Given the description of an element on the screen output the (x, y) to click on. 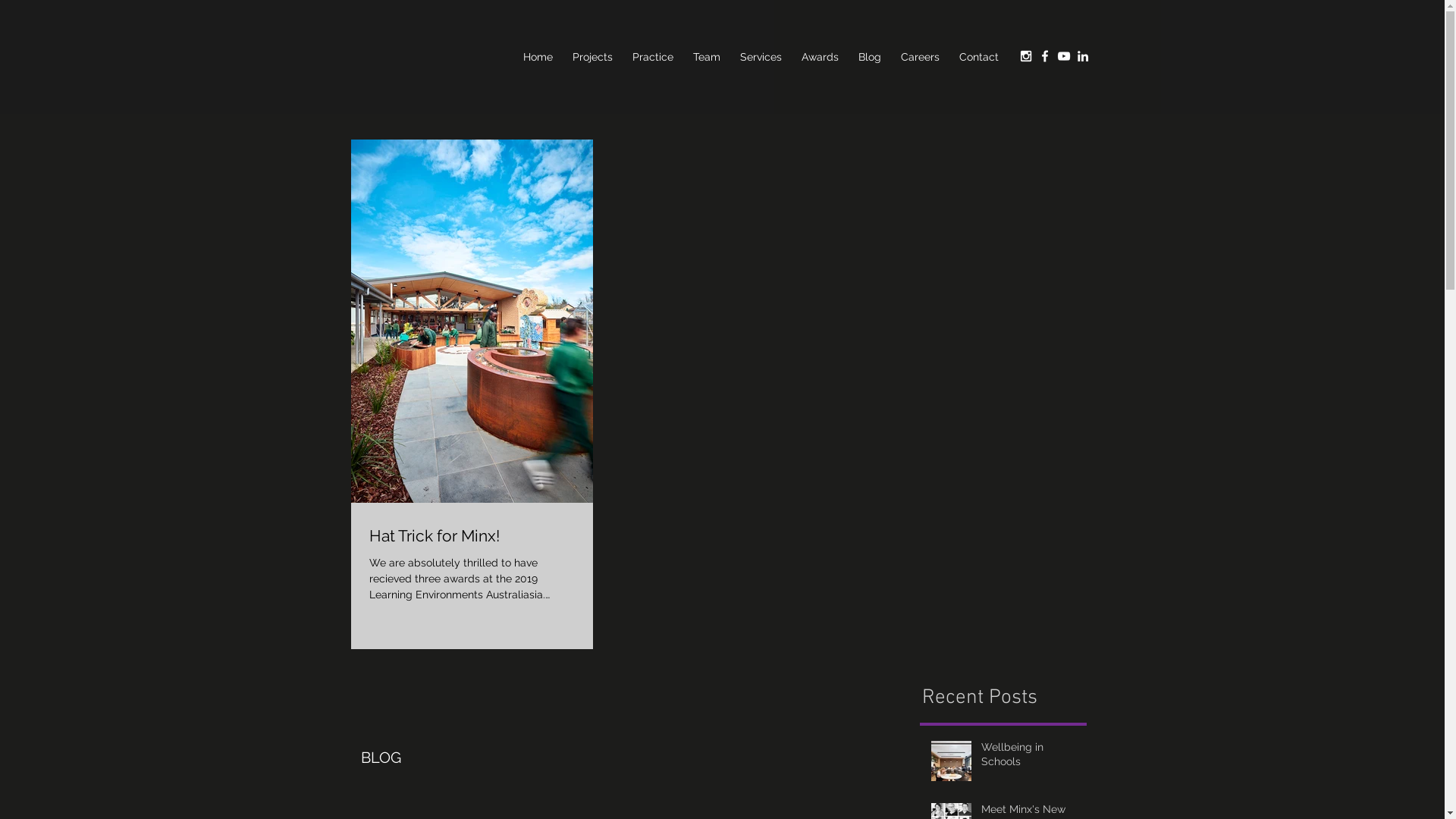
Home Element type: text (536, 57)
Hat Trick for Minx! Element type: text (471, 535)
Wellbeing in Schools Element type: text (1030, 757)
Projects Element type: text (592, 57)
Awards Element type: text (819, 57)
Careers Element type: text (919, 57)
Blog Element type: text (868, 57)
Team Element type: text (705, 57)
Services Element type: text (759, 57)
Contact Element type: text (978, 57)
Practice Element type: text (651, 57)
